Given the description of an element on the screen output the (x, y) to click on. 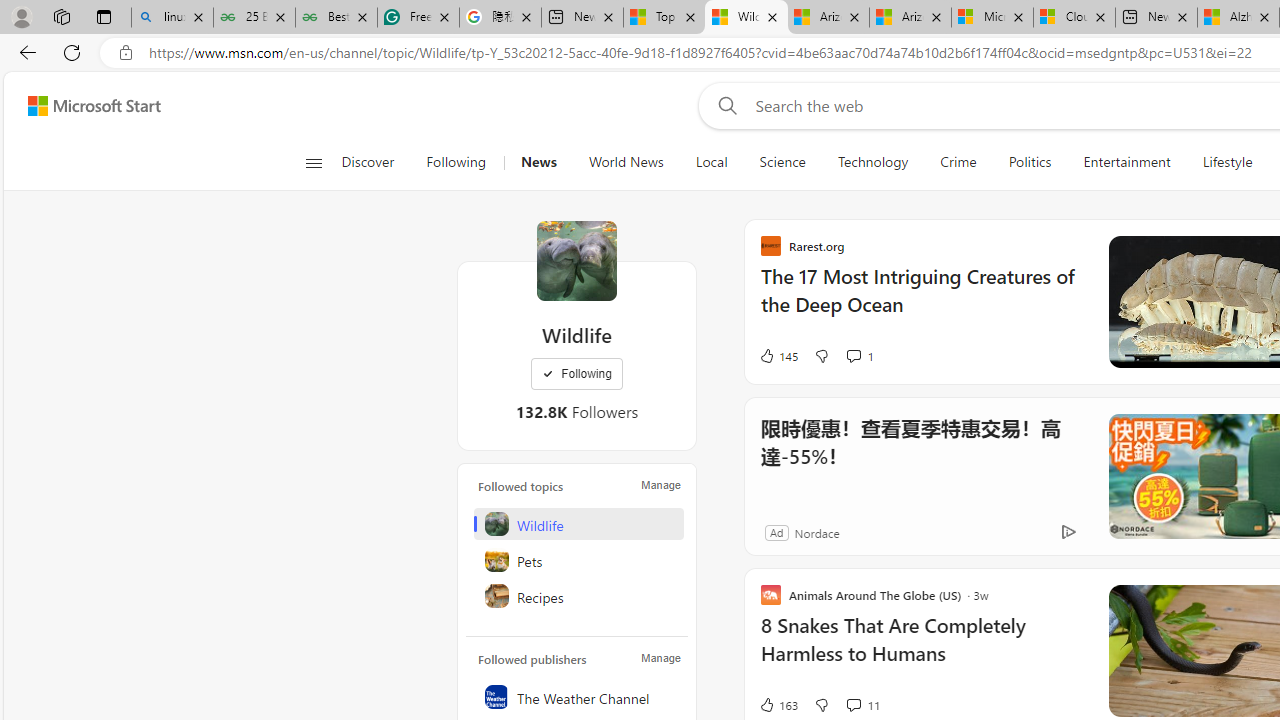
Pets (578, 560)
Cloud Computing Services | Microsoft Azure (1074, 17)
163 Like (778, 704)
Wildlife (576, 260)
The Weather Channel (578, 696)
linux basic - Search (171, 17)
